Given the description of an element on the screen output the (x, y) to click on. 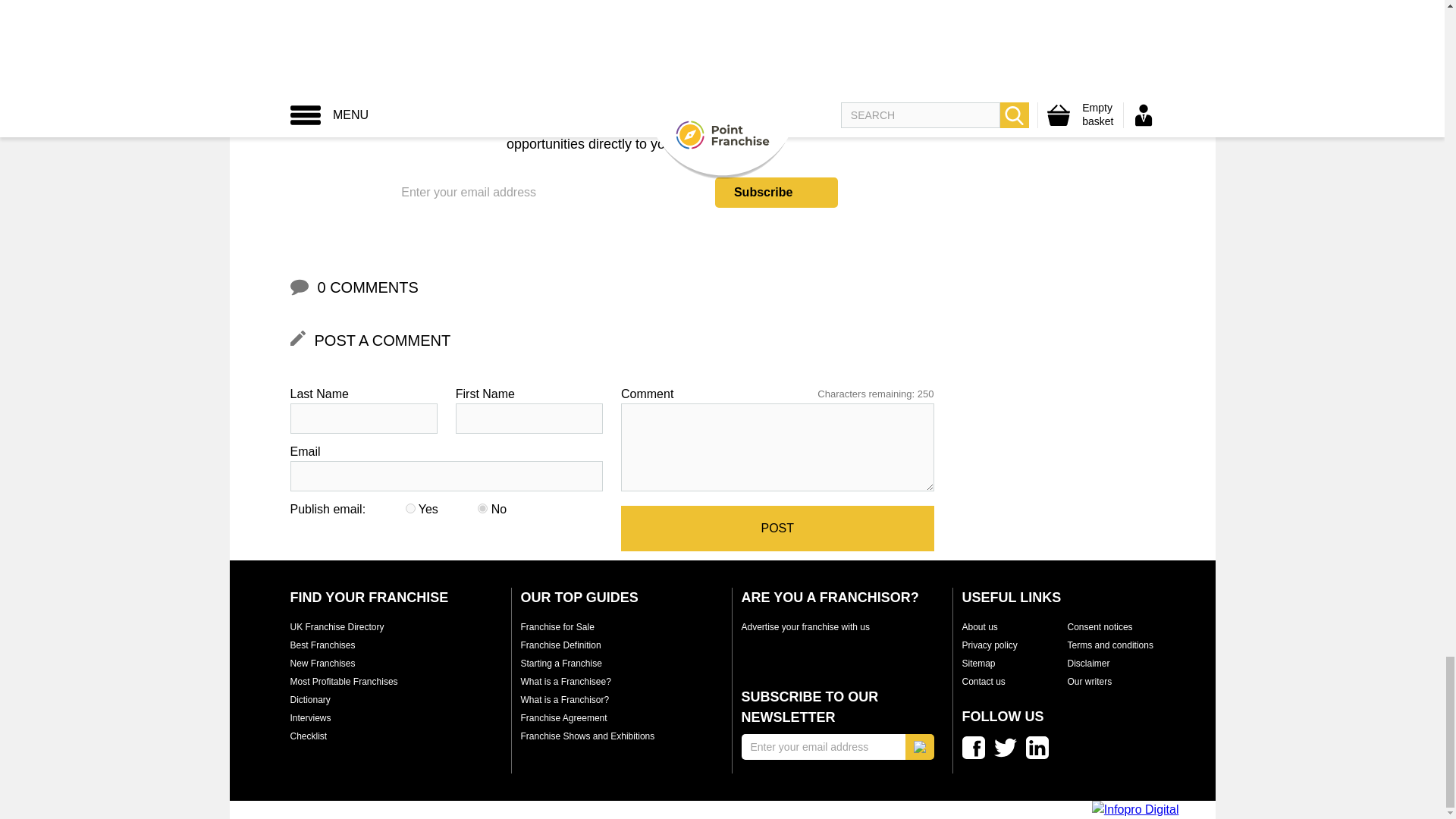
1 (410, 508)
Discover the newest franchises (322, 663)
Find the most profitable UK franchises (343, 681)
Interviews (309, 717)
Checklist (307, 736)
The full UK franchise directory (336, 626)
Dictionary (309, 699)
Discover UK's best franchises (322, 644)
0 (482, 508)
